Given the description of an element on the screen output the (x, y) to click on. 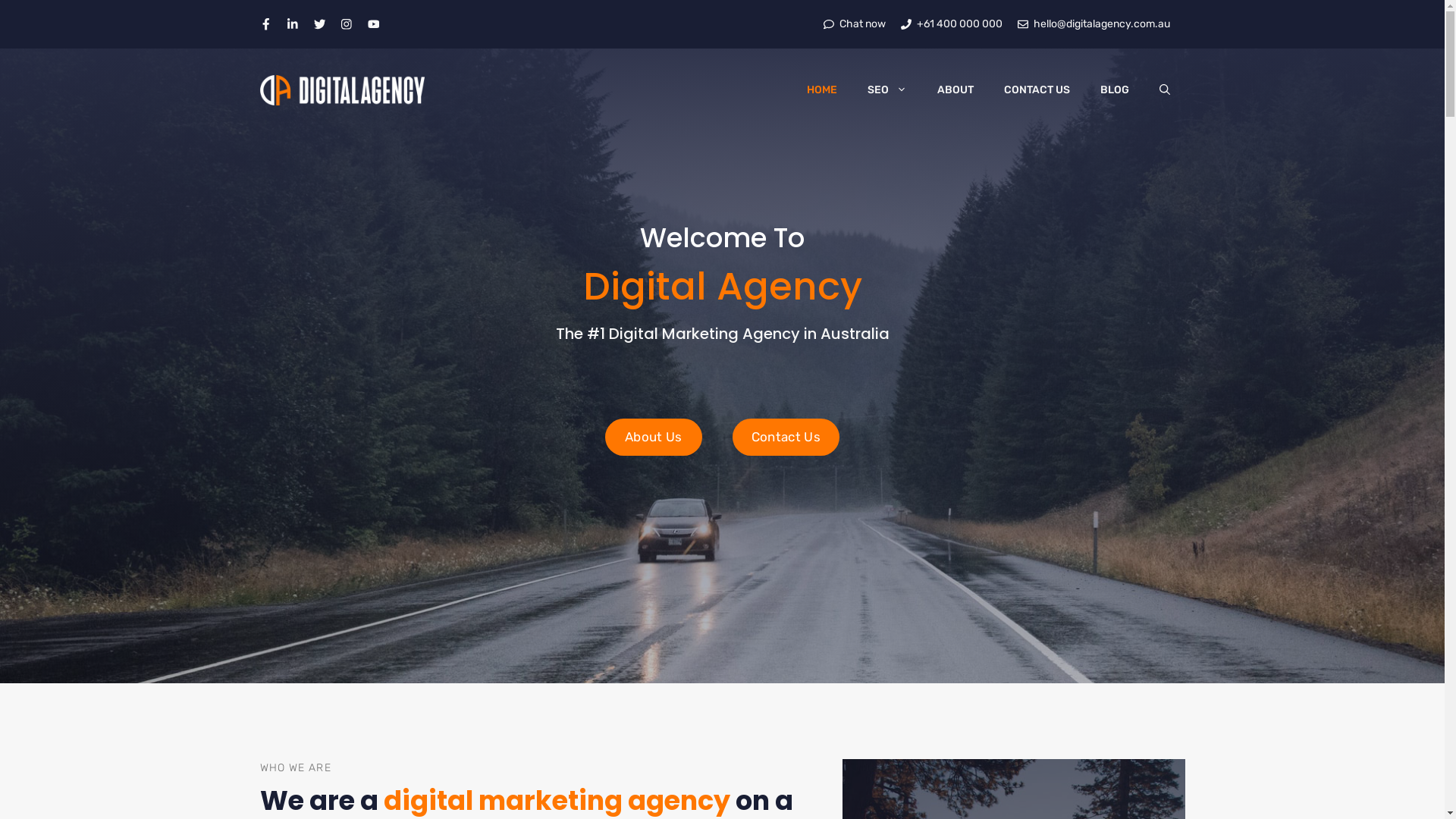
HOME Element type: text (821, 89)
CONTACT US Element type: text (1036, 89)
Digital Agency Element type: hover (341, 89)
+61 400 000 000 Element type: text (951, 24)
ABOUT Element type: text (955, 89)
hello@digitalagency.com.au Element type: text (1093, 24)
BLOG Element type: text (1113, 89)
SEO Element type: text (887, 89)
About Us Element type: text (653, 436)
Contact Us Element type: text (785, 436)
Chat now Element type: text (854, 24)
